Given the description of an element on the screen output the (x, y) to click on. 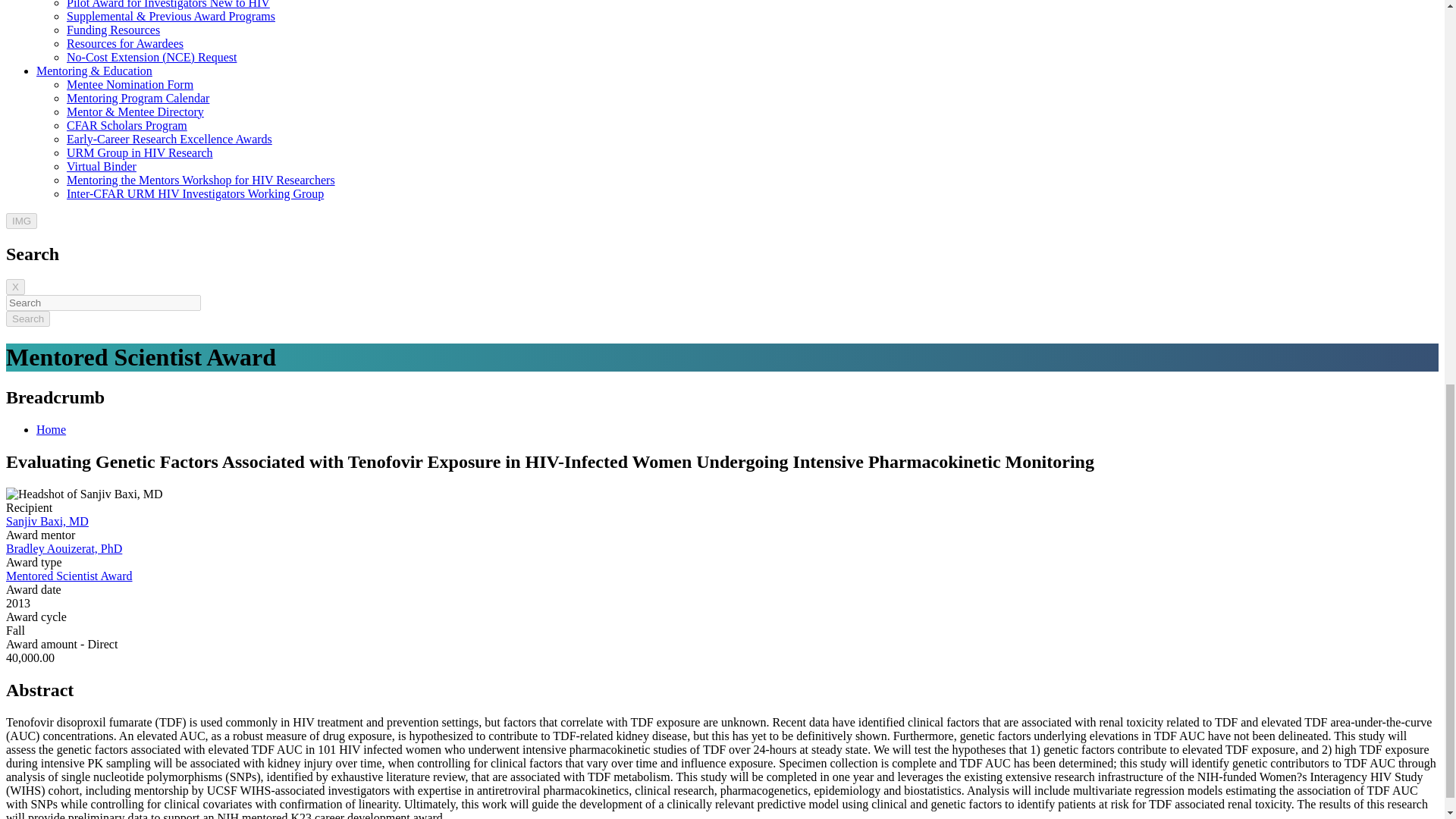
Search (27, 318)
